Given the description of an element on the screen output the (x, y) to click on. 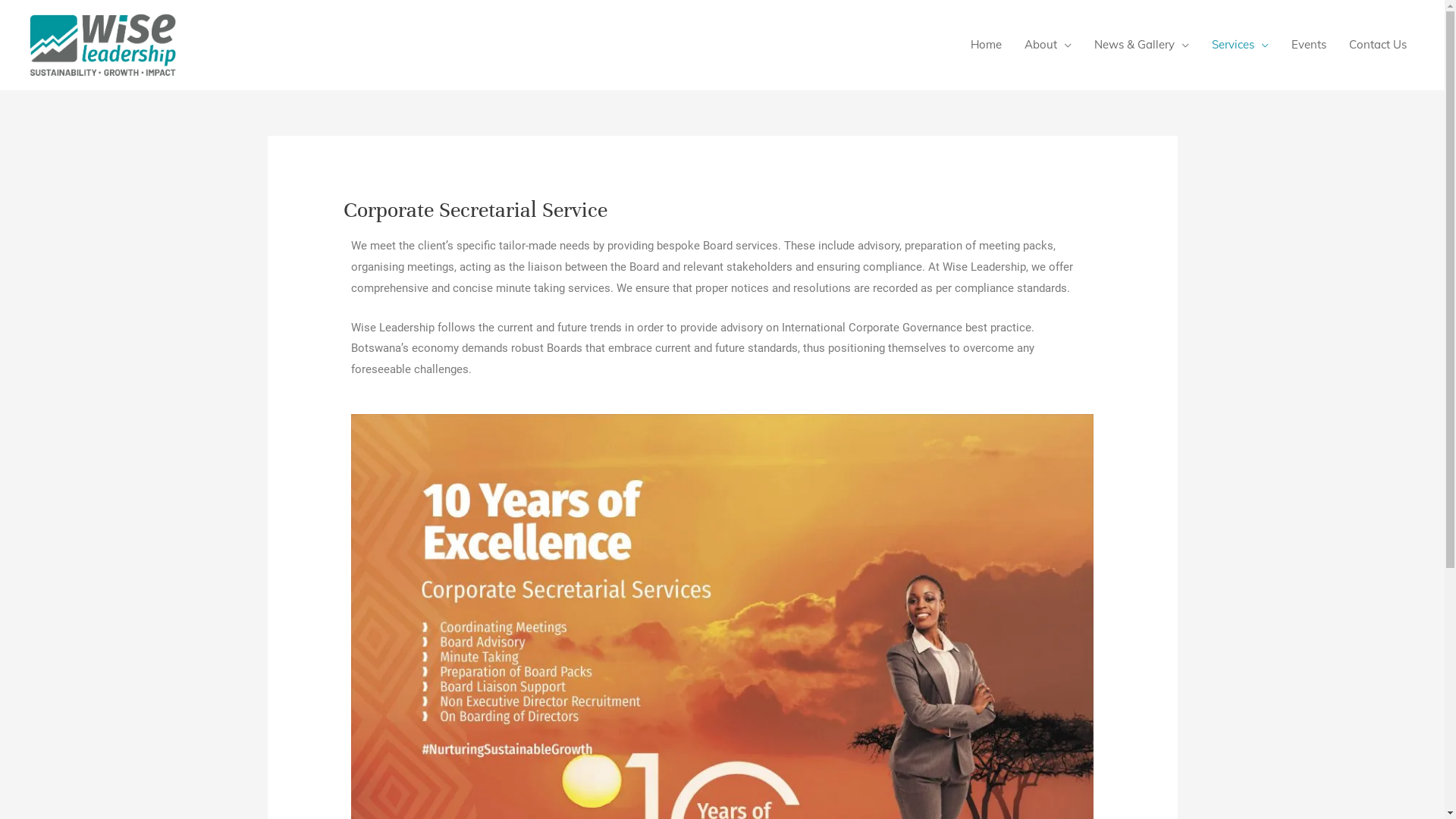
Services Element type: text (1240, 44)
Events Element type: text (1308, 44)
News & Gallery Element type: text (1141, 44)
Contact Us Element type: text (1377, 44)
Home Element type: text (986, 44)
About Element type: text (1047, 44)
